Given the description of an element on the screen output the (x, y) to click on. 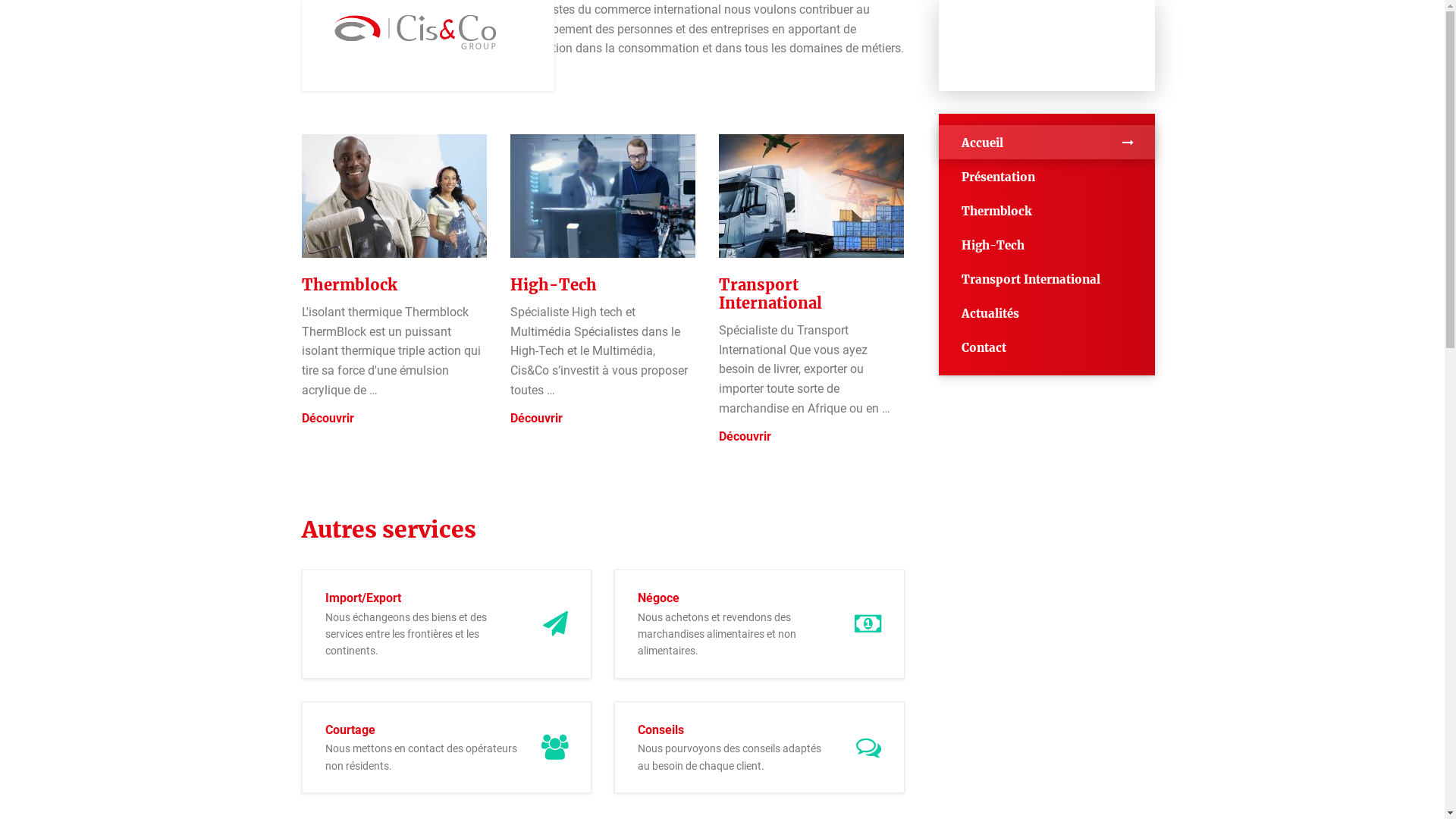
Transport International Element type: text (770, 293)
Thermblock Element type: text (1046, 210)
High-Tech Element type: text (1046, 244)
0032 473138383 Element type: text (1046, 22)
Thermblock Element type: text (349, 284)
High-Tech Element type: text (552, 284)
Transport International Element type: text (1046, 278)
Contact Element type: text (1046, 346)
Accueil Element type: text (1046, 142)
info@cisandco.com Element type: text (1046, 68)
